Given the description of an element on the screen output the (x, y) to click on. 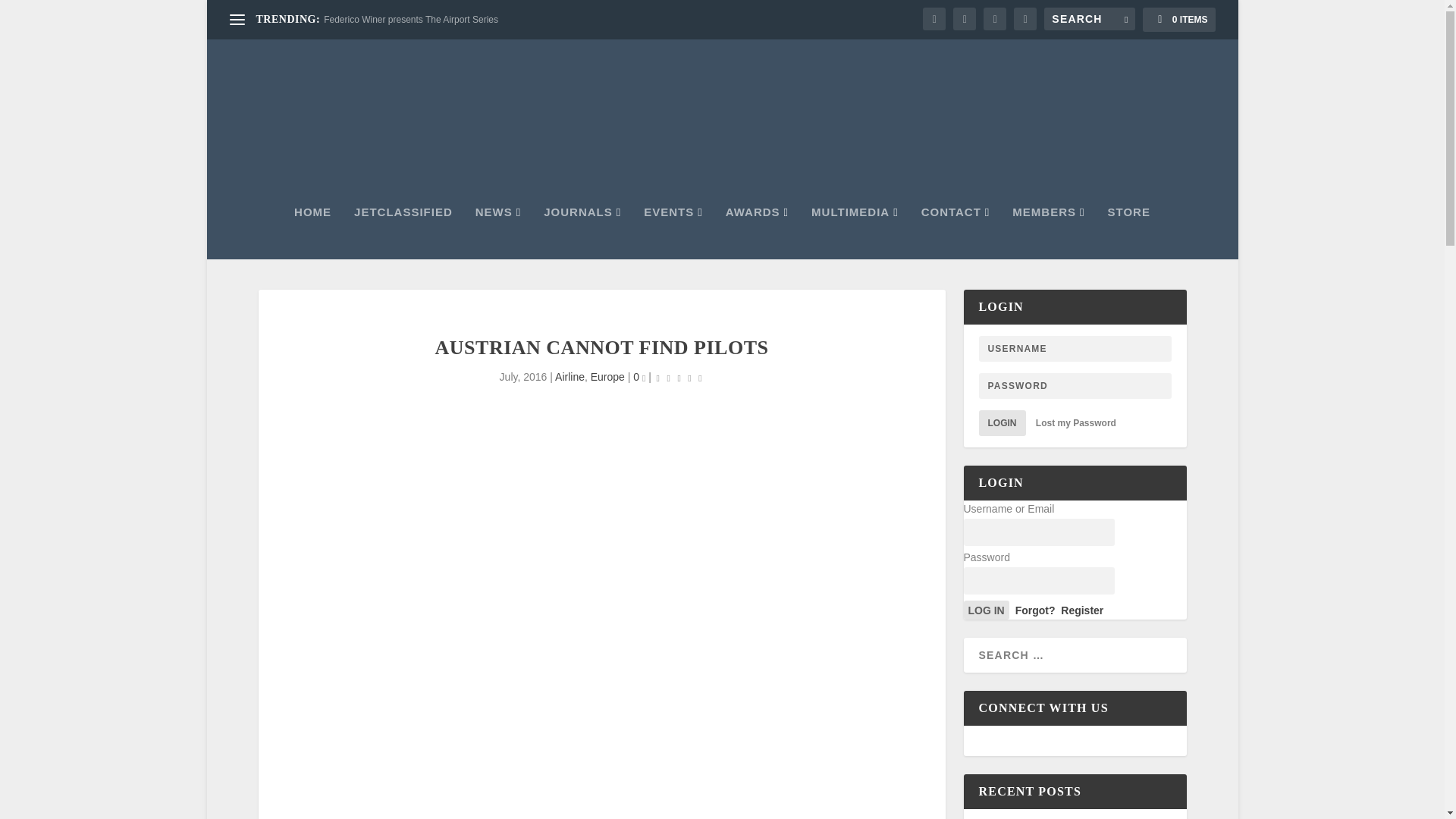
log in (985, 609)
JOURNALS (582, 232)
JETCLASSIFIED (402, 232)
Rating: 0.00 (678, 377)
Federico Winer presents The Airport Series (410, 19)
